Given the description of an element on the screen output the (x, y) to click on. 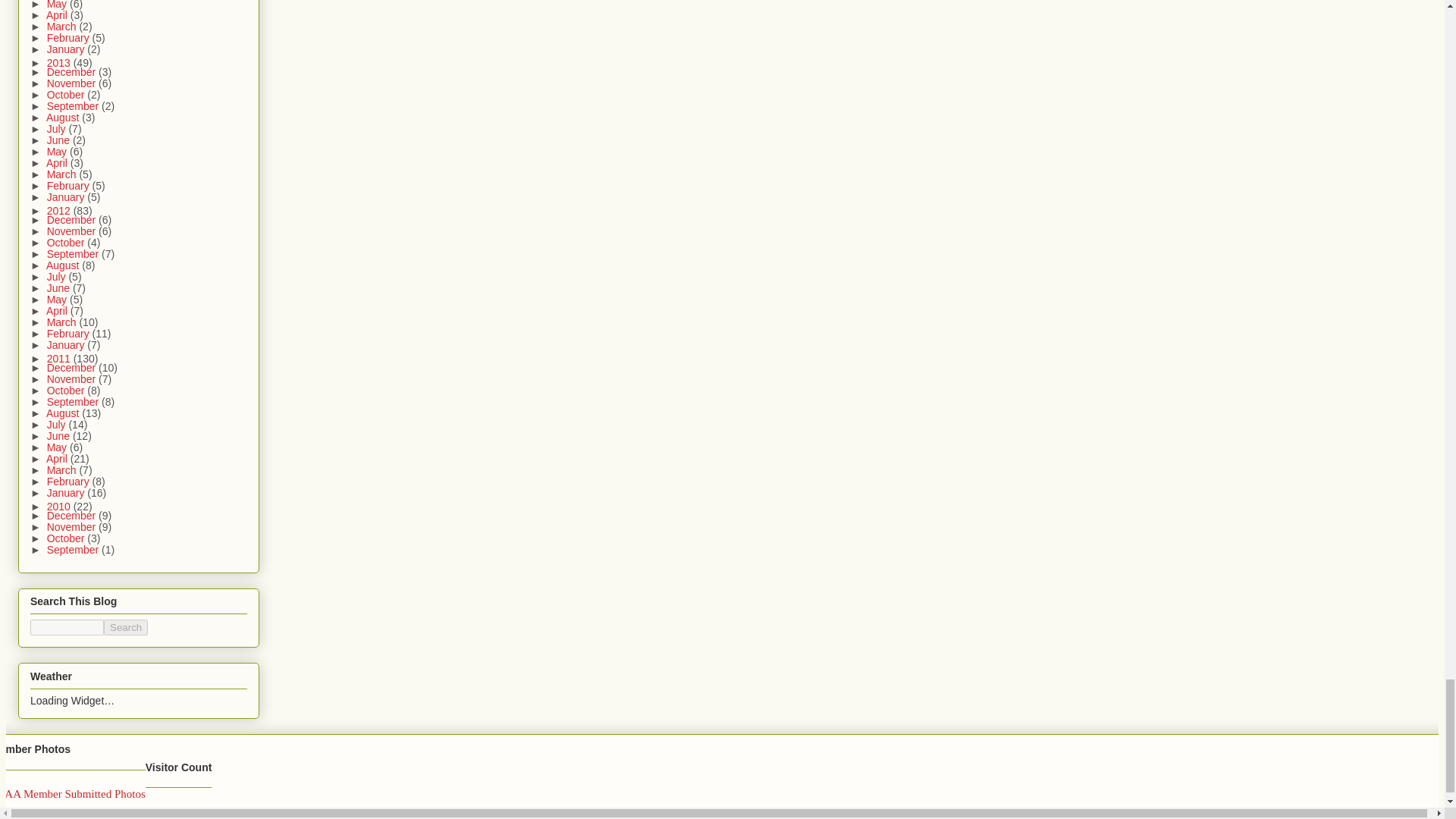
Search (125, 627)
Search (125, 627)
search (66, 627)
search (125, 627)
